Given the description of an element on the screen output the (x, y) to click on. 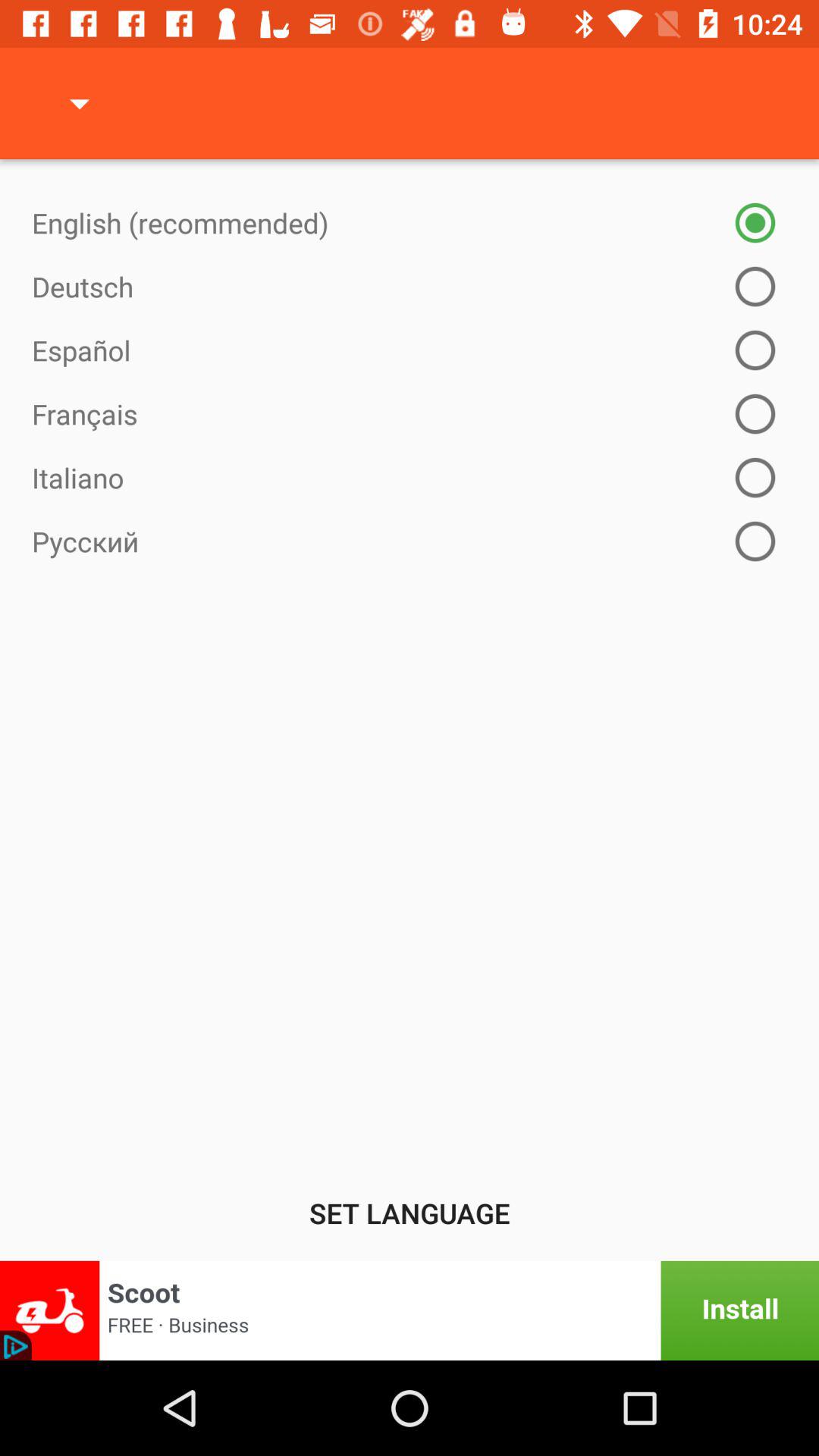
choose the icon at the top left corner (79, 103)
